Given the description of an element on the screen output the (x, y) to click on. 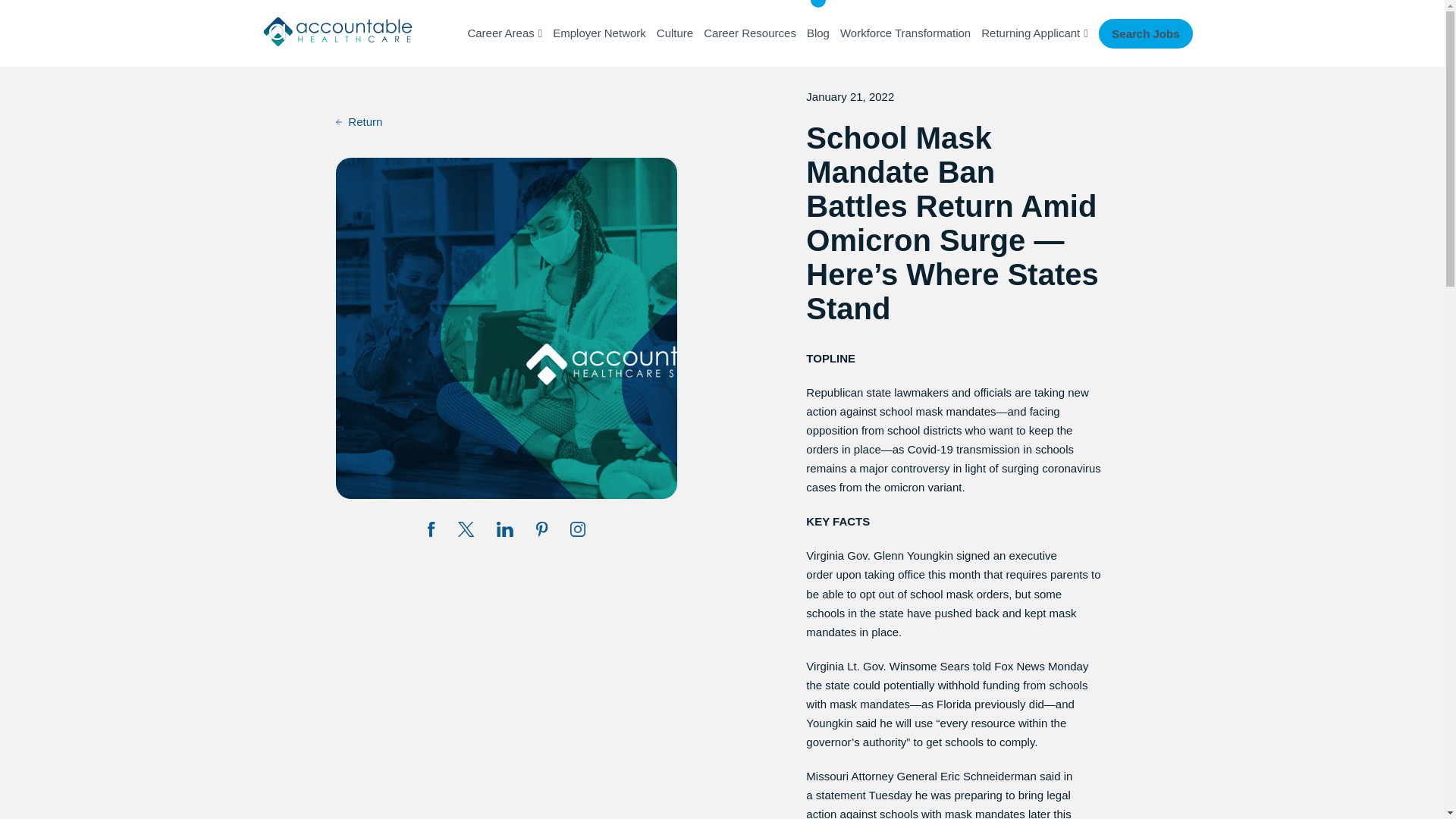
Blog (817, 33)
Return (358, 122)
Workforce Transformation (905, 33)
Employer Network (599, 33)
Career Resources (749, 33)
Search Jobs (1145, 32)
Culture (674, 33)
